Given the description of an element on the screen output the (x, y) to click on. 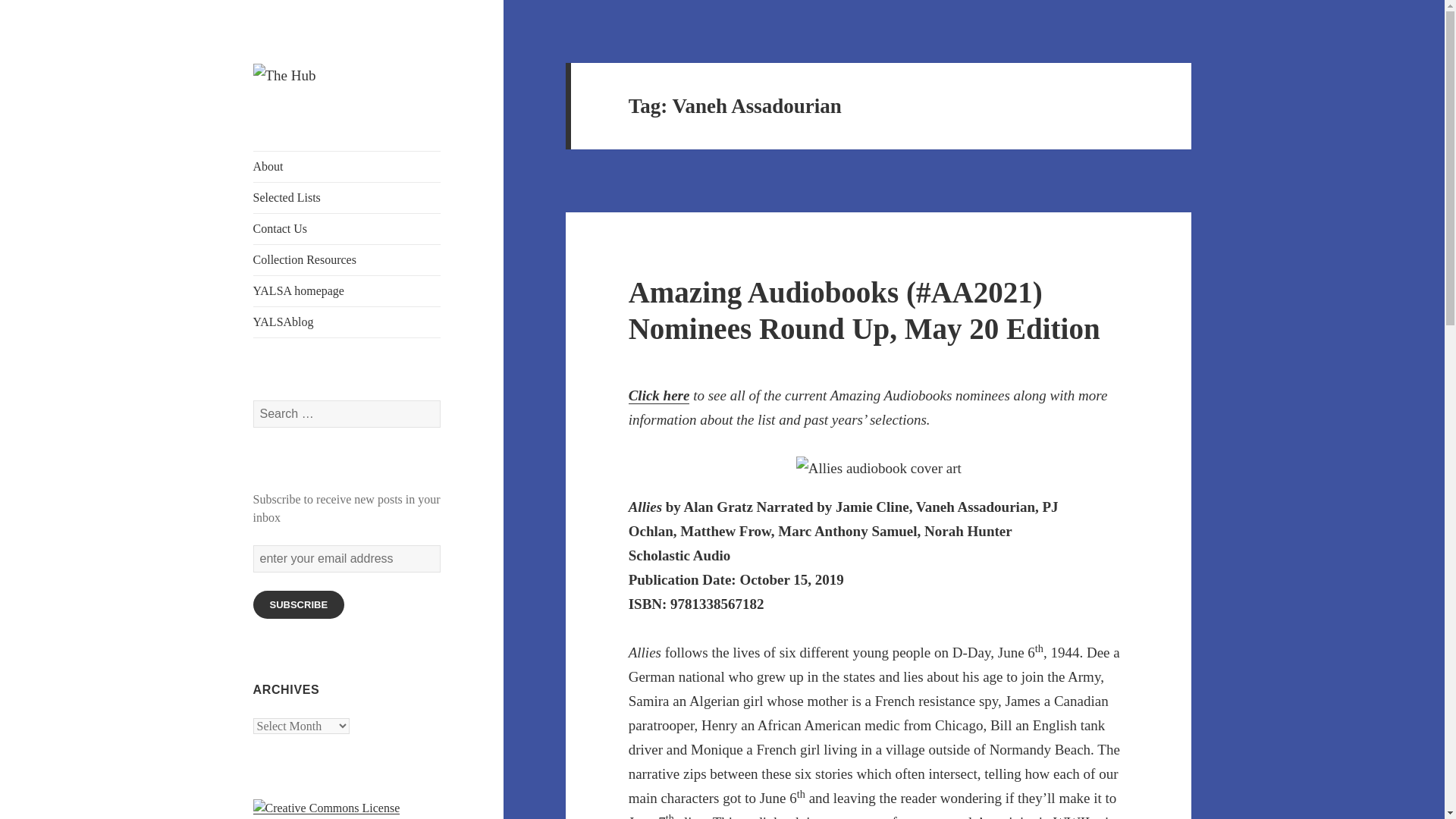
YALSAblog (347, 322)
Click here (659, 395)
Selected Lists (347, 197)
YALSA homepage (347, 291)
Contact Us (347, 228)
SUBSCRIBE (299, 604)
The Hub (293, 111)
